Given the description of an element on the screen output the (x, y) to click on. 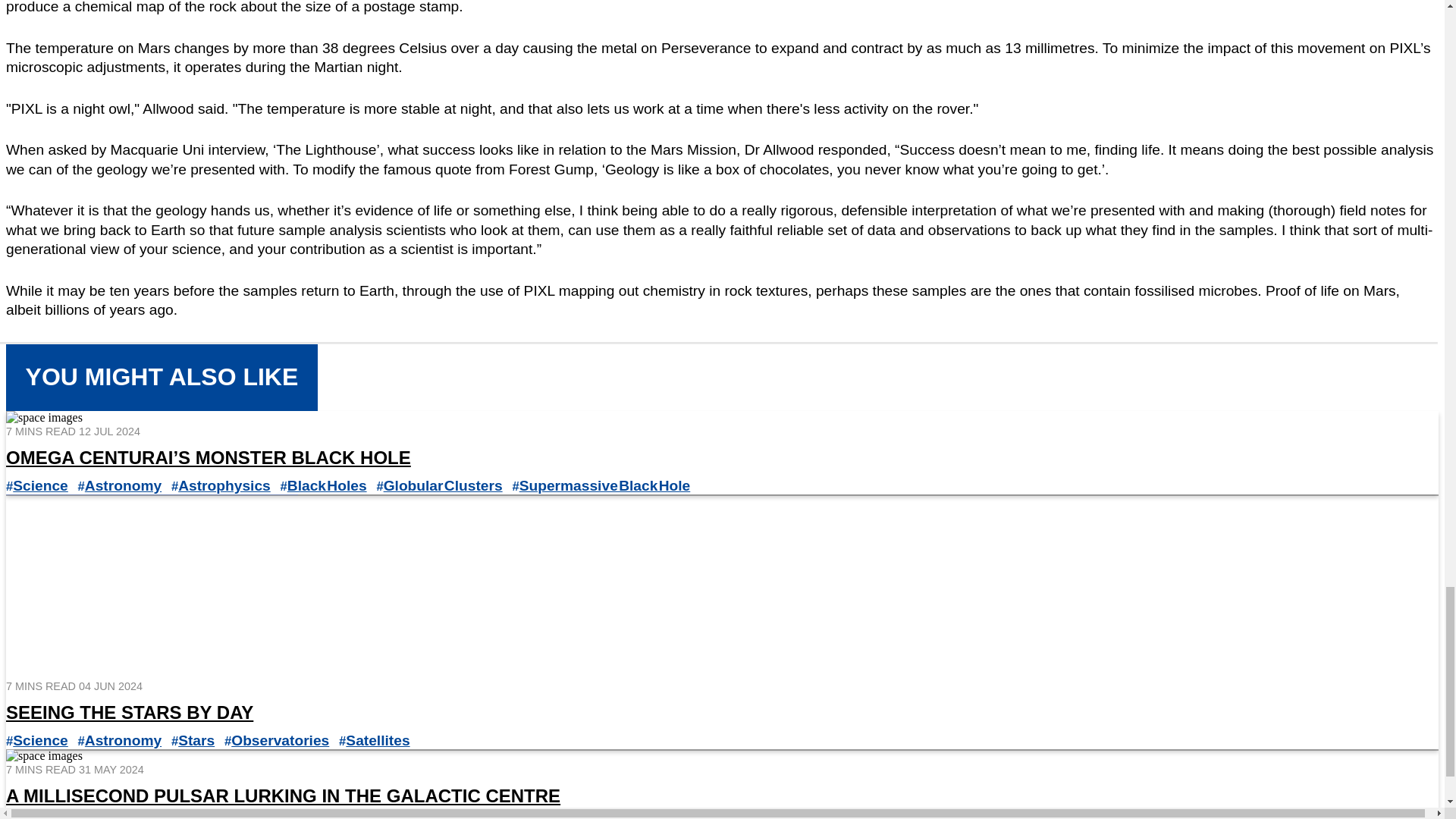
Science (40, 485)
Black Holes (326, 485)
Astronomy (122, 485)
Globular Clusters (443, 485)
Astrophysics (223, 485)
Supermassive Black Hole (604, 485)
